Given the description of an element on the screen output the (x, y) to click on. 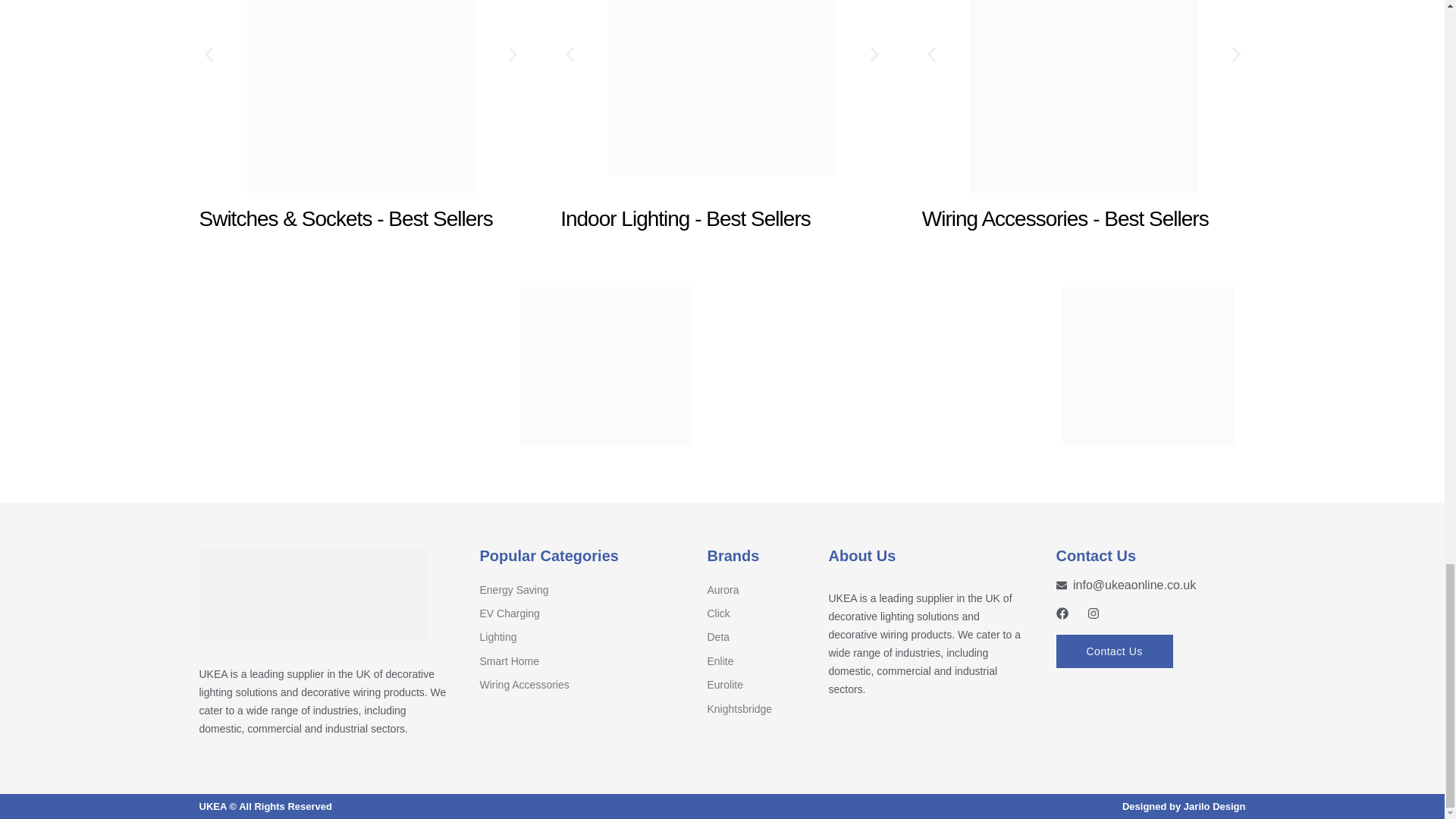
Indoor Lighting - Best Sellers (722, 119)
